Given the description of an element on the screen output the (x, y) to click on. 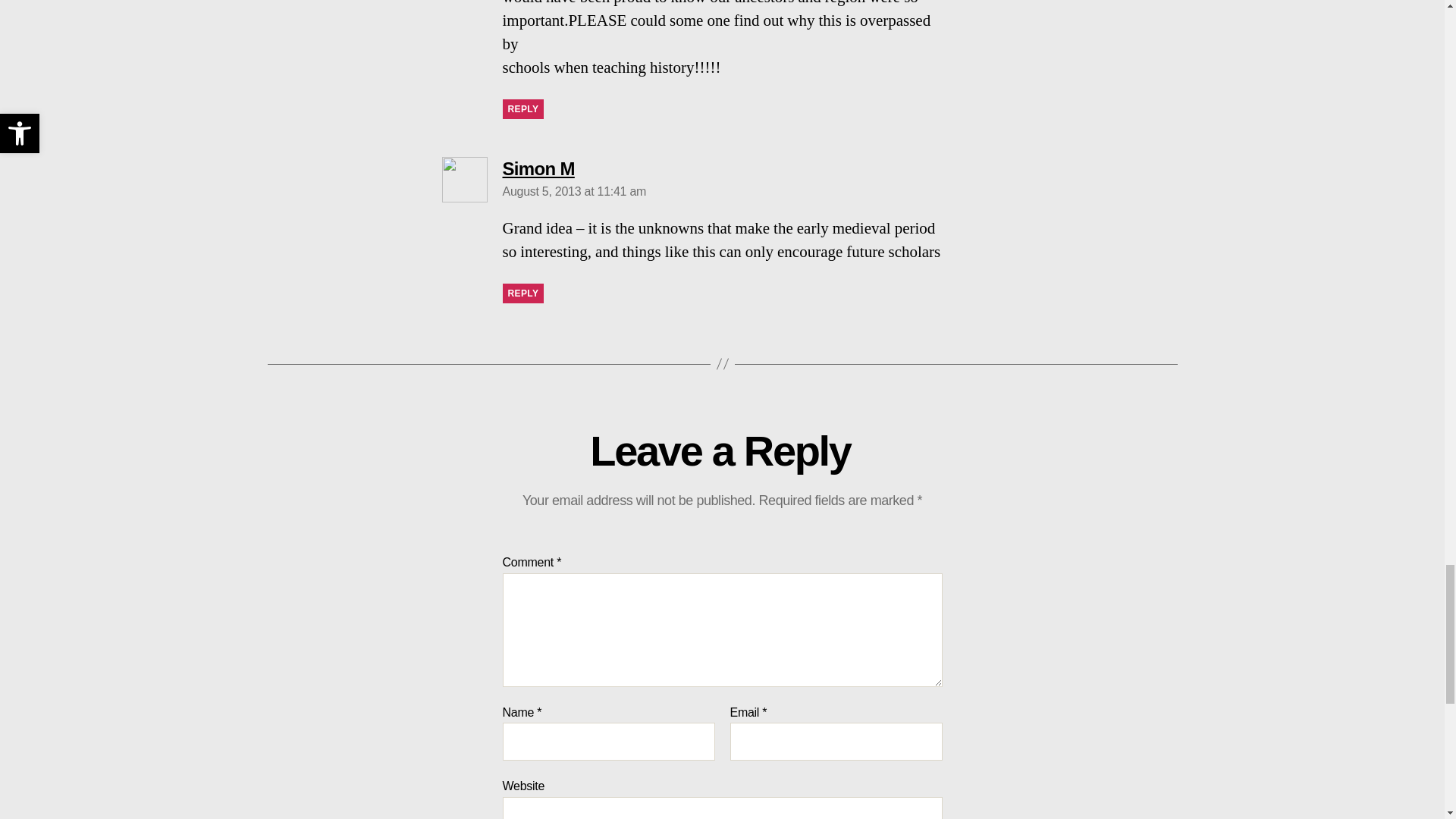
REPLY (522, 293)
REPLY (522, 108)
